Given the description of an element on the screen output the (x, y) to click on. 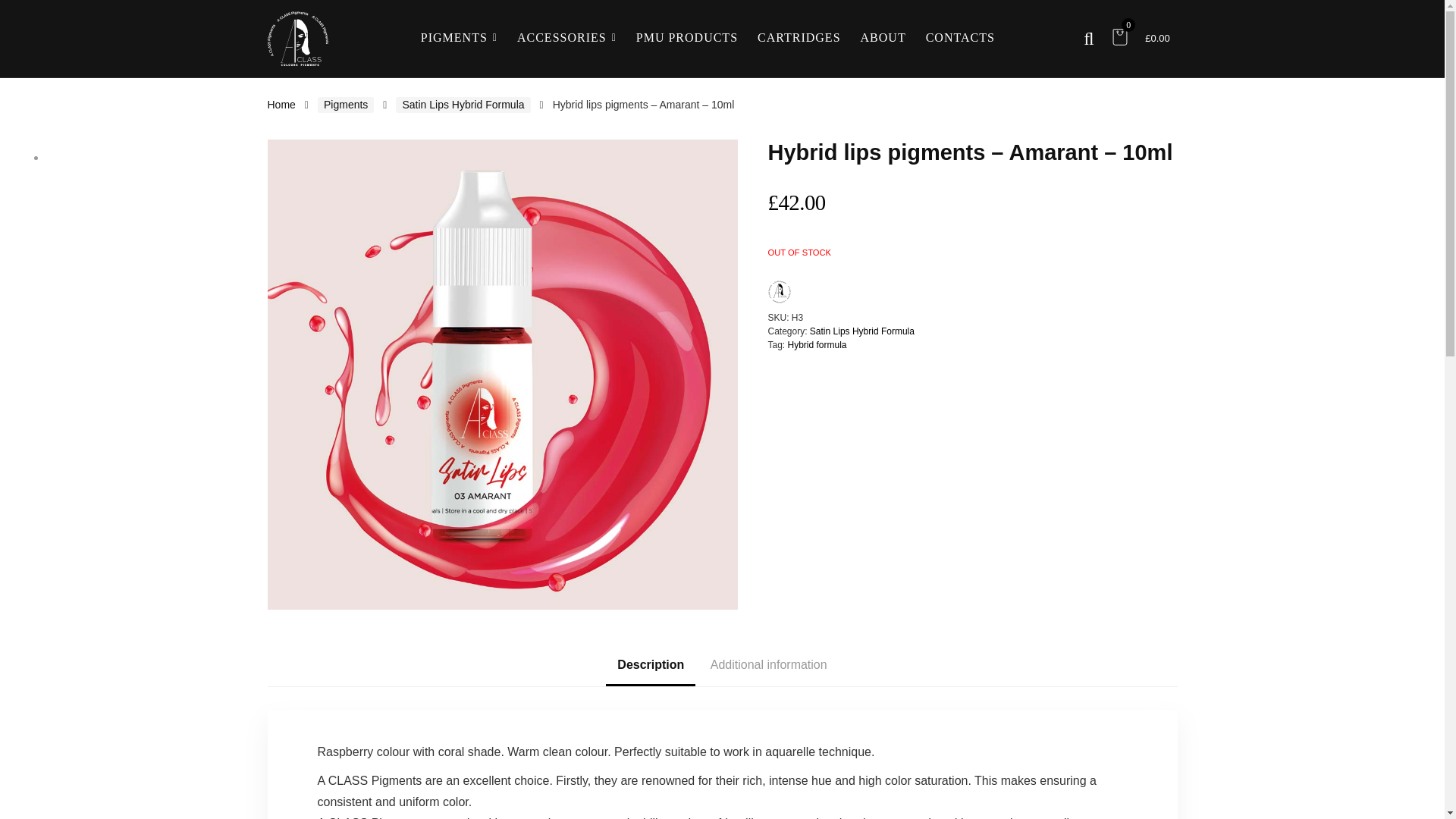
Pigments (345, 105)
Description Additional information (721, 664)
Satin Lips Hybrid Formula (861, 330)
CARTRIDGES (799, 38)
PMU PRODUCTS (687, 38)
Additional information (768, 664)
Satin Lips Hybrid Formula (462, 105)
Home (280, 104)
ACCESSORIES (566, 38)
Hybrid formula (817, 344)
